Given the description of an element on the screen output the (x, y) to click on. 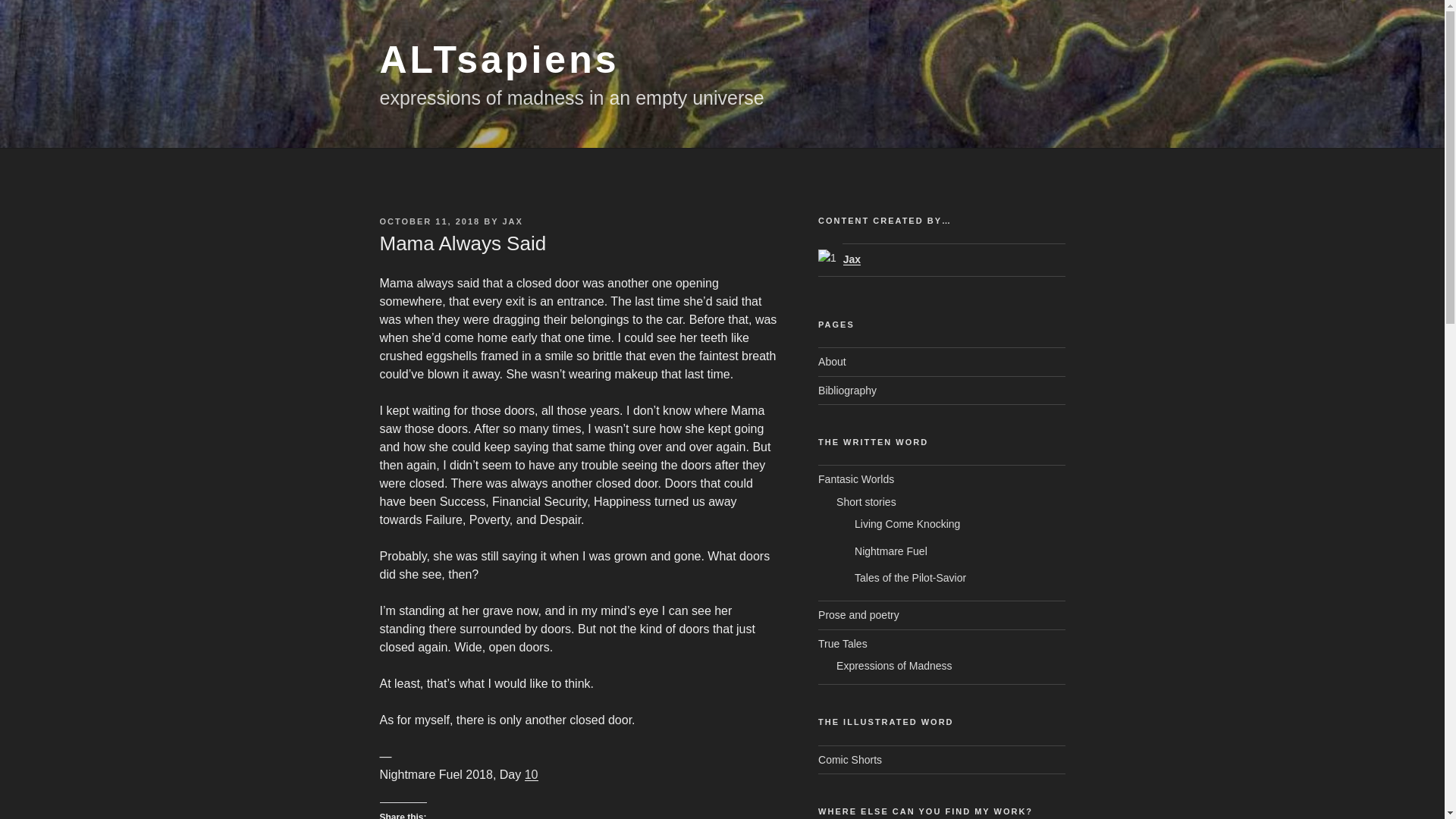
ALTsapiens (498, 59)
True Tales (842, 644)
Jax (839, 259)
Prose and poetry (858, 614)
10 (531, 774)
Comic Shorts (850, 759)
Short stories (865, 501)
Living Come Knocking (906, 523)
About (831, 361)
Nightmare Fuel (890, 551)
OCTOBER 11, 2018 (429, 221)
Expressions of Madness (893, 665)
Tales of the Pilot-Savior (910, 577)
JAX (512, 221)
Bibliography (847, 390)
